Given the description of an element on the screen output the (x, y) to click on. 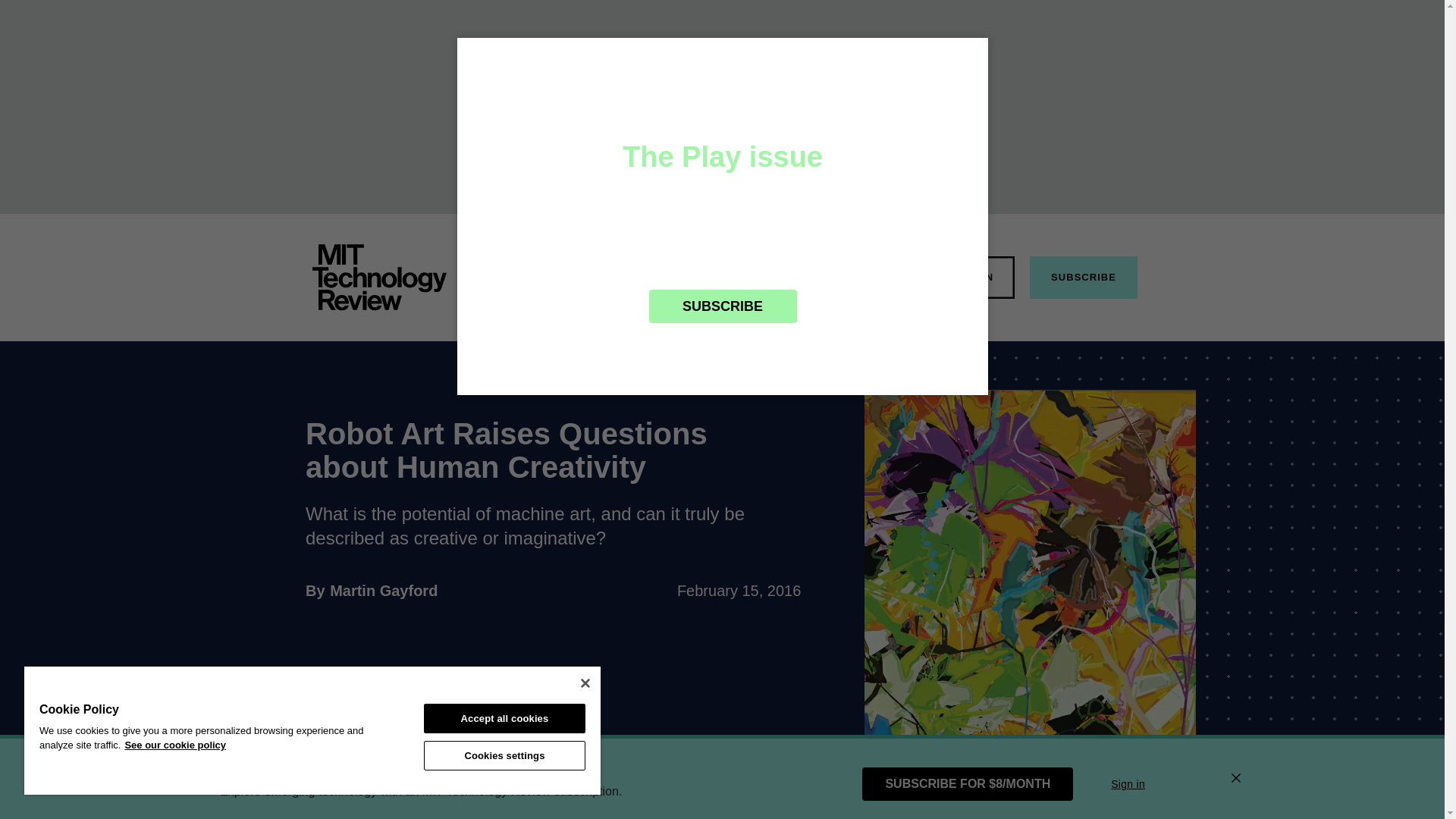
Podcasts (868, 275)
Newsletters (717, 275)
Events (796, 275)
MIT Technology Review (379, 277)
SUBSCRIBE (1083, 277)
SIGN IN (972, 277)
3rd party ad content (384, 590)
Topics (569, 275)
